Given the description of an element on the screen output the (x, y) to click on. 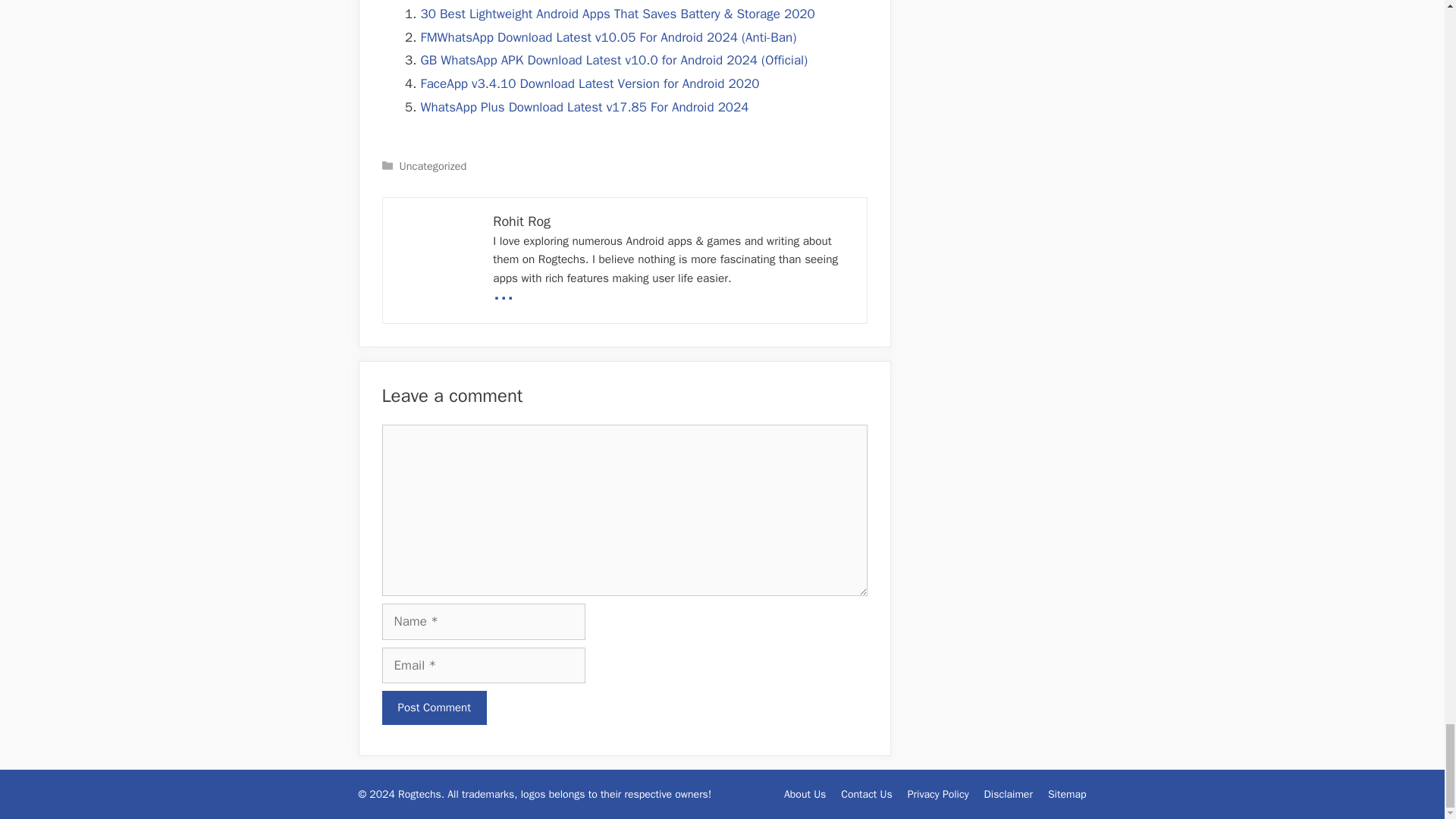
Disclaimer (1008, 793)
FaceApp v3.4.10 Download Latest Version for Android 2020 (589, 83)
Uncategorized (432, 165)
Post Comment (433, 707)
About Us (804, 793)
FaceApp v3.4.10 Download Latest Version for Android 2020 (589, 83)
WhatsApp Plus Download Latest v17.85 For Android 2024 (584, 107)
Sitemap (1067, 793)
Privacy Policy (938, 793)
WhatsApp Plus Download Latest v17.85 For Android 2024 (584, 107)
Post Comment (433, 707)
Contact Us (866, 793)
